Given the description of an element on the screen output the (x, y) to click on. 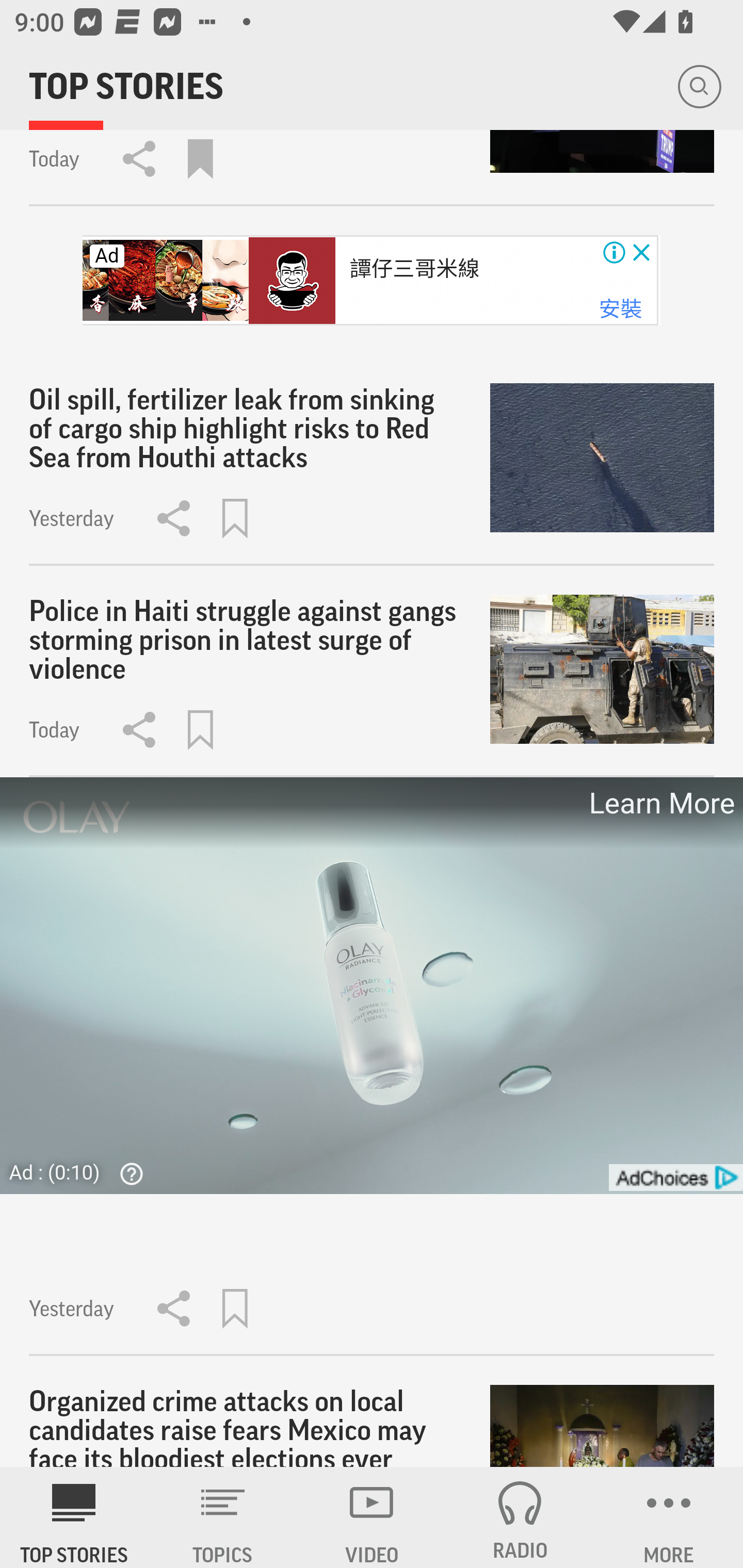
譚仔三哥米線 (414, 268)
安裝 (620, 309)
Learn More (660, 803)
Ad : (0:10) Why This Ad? (82, 1171)
Why This Ad? (126, 1173)
get?name=admarker-full-tl (675, 1178)
AP News TOP STORIES (74, 1517)
TOPICS (222, 1517)
VIDEO (371, 1517)
RADIO (519, 1517)
MORE (668, 1517)
